Given the description of an element on the screen output the (x, y) to click on. 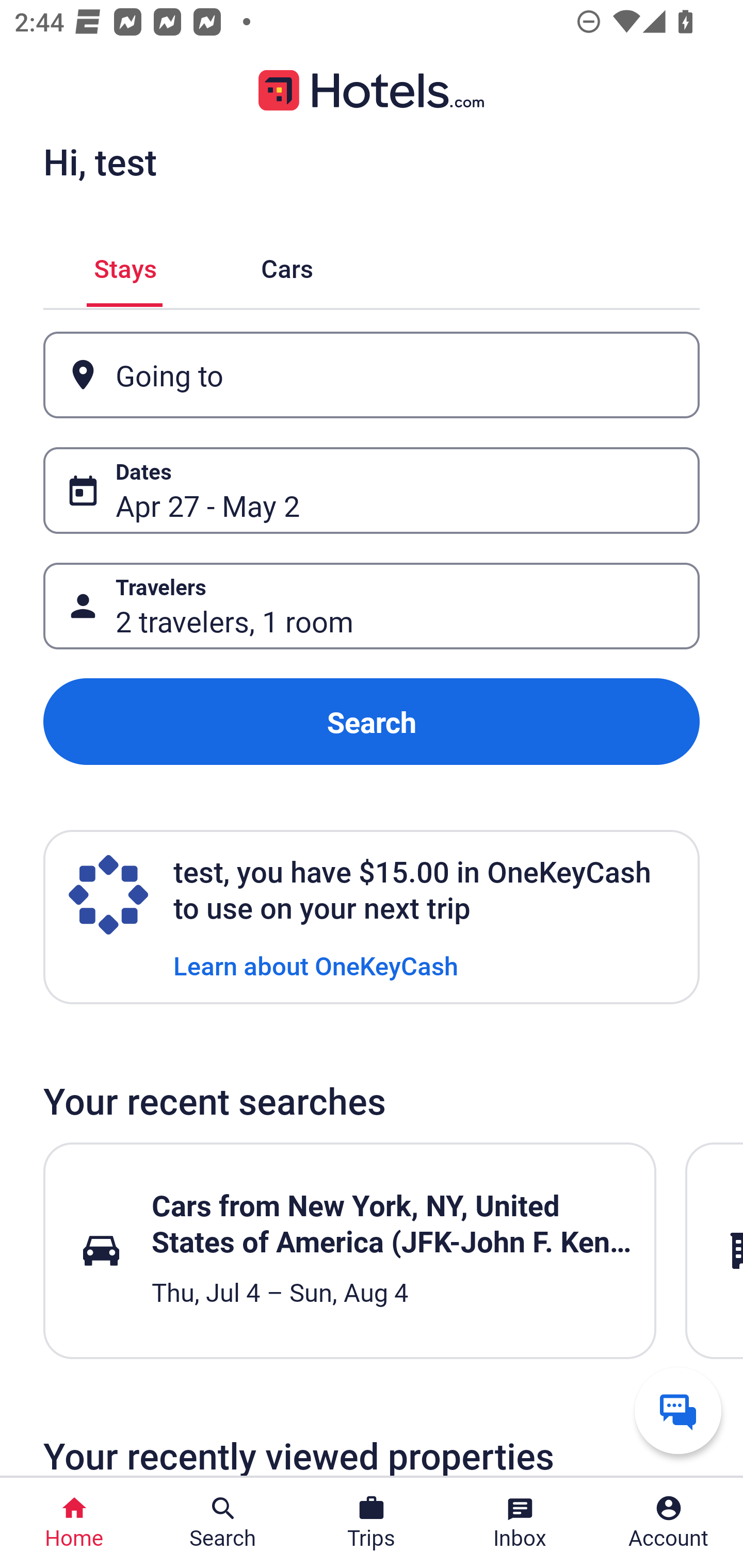
Hi, test (99, 161)
Cars (286, 265)
Going to Button (371, 375)
Dates Button Apr 27 - May 2 (371, 489)
Travelers Button 2 travelers, 1 room (371, 605)
Search (371, 721)
Learn about OneKeyCash Learn about OneKeyCash Link (315, 964)
Get help from a virtual agent (677, 1410)
Search Search Button (222, 1522)
Trips Trips Button (371, 1522)
Inbox Inbox Button (519, 1522)
Account Profile. Button (668, 1522)
